Given the description of an element on the screen output the (x, y) to click on. 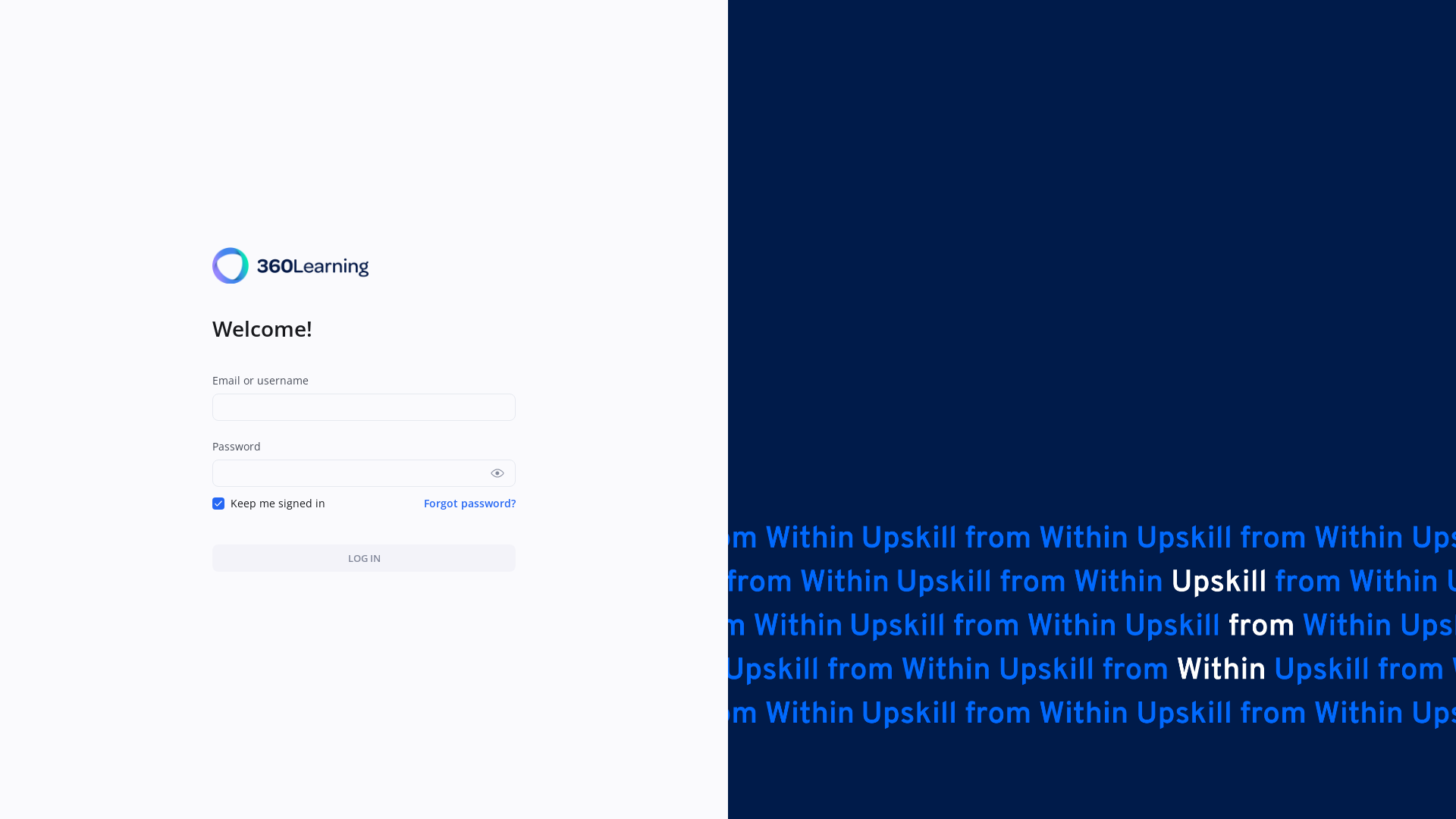
Forgot password? Element type: text (469, 502)
LOG IN Element type: text (363, 557)
